Given the description of an element on the screen output the (x, y) to click on. 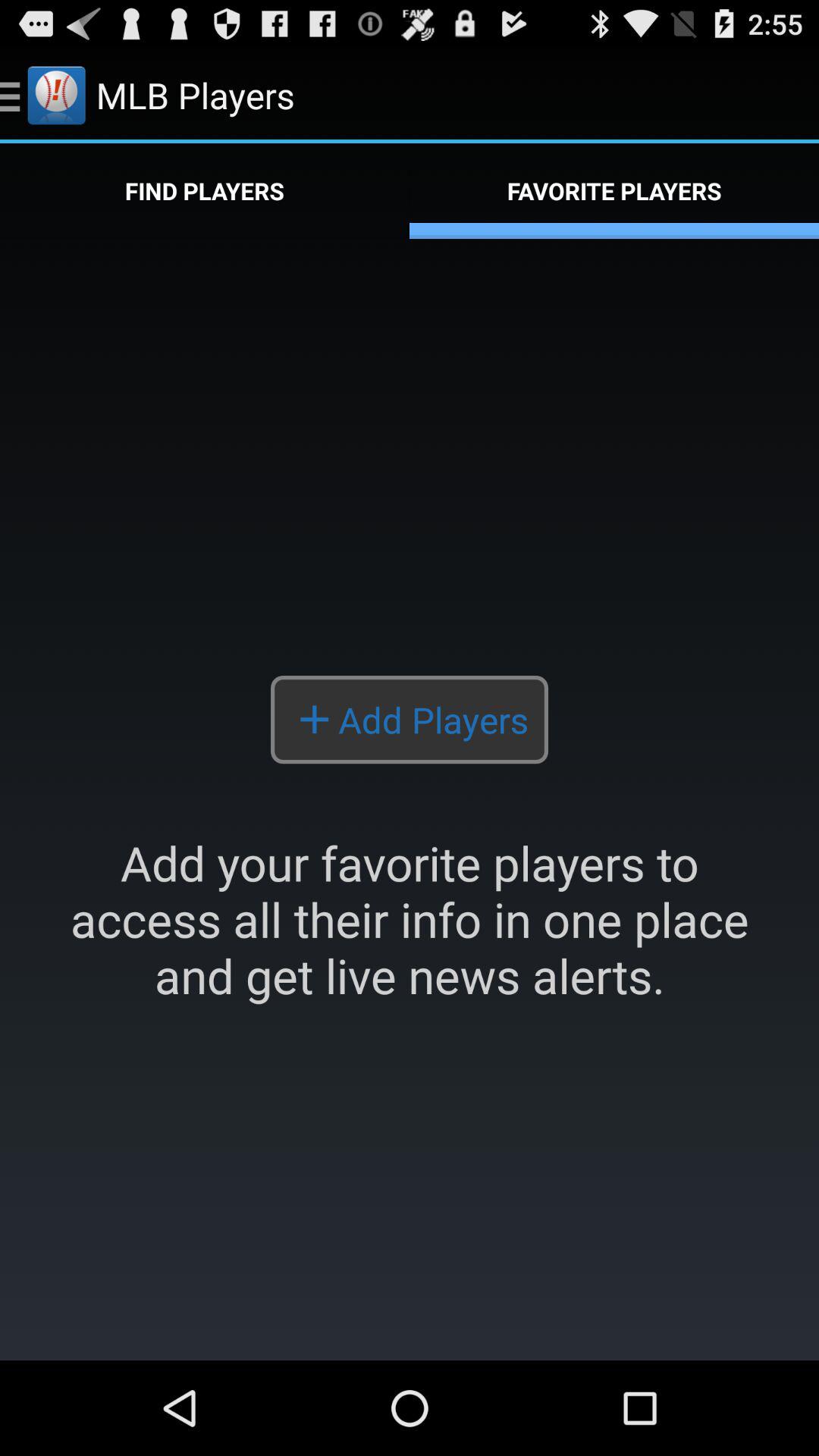
choose the icon below find players app (409, 799)
